Given the description of an element on the screen output the (x, y) to click on. 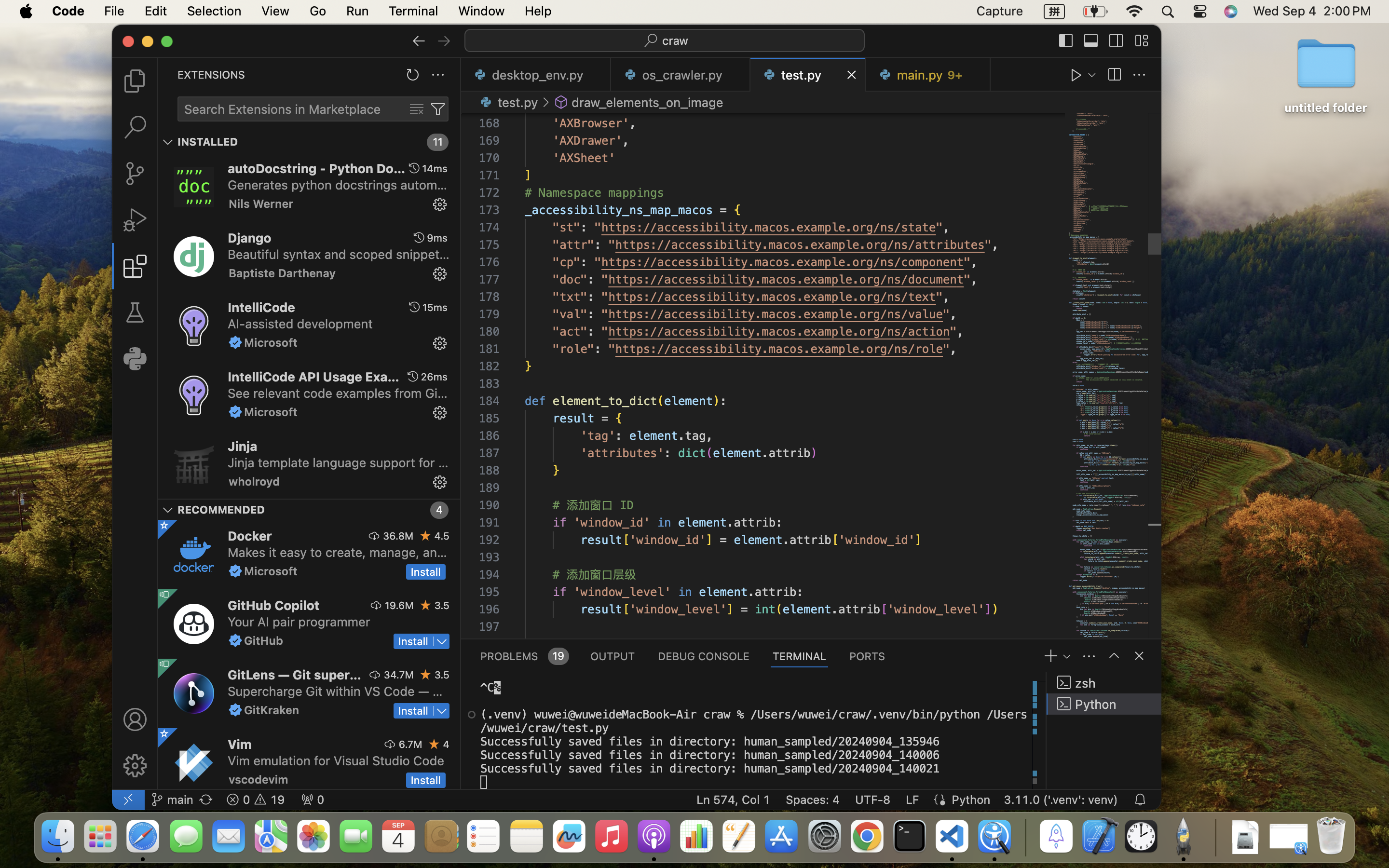
 Element type: AXStaticText (437, 108)
zsh  Element type: AXGroup (1103, 682)
 Element type: AXButton (419, 40)
1 TERMINAL Element type: AXRadioButton (799, 655)
 Element type: AXStaticText (561, 101)
